Given the description of an element on the screen output the (x, y) to click on. 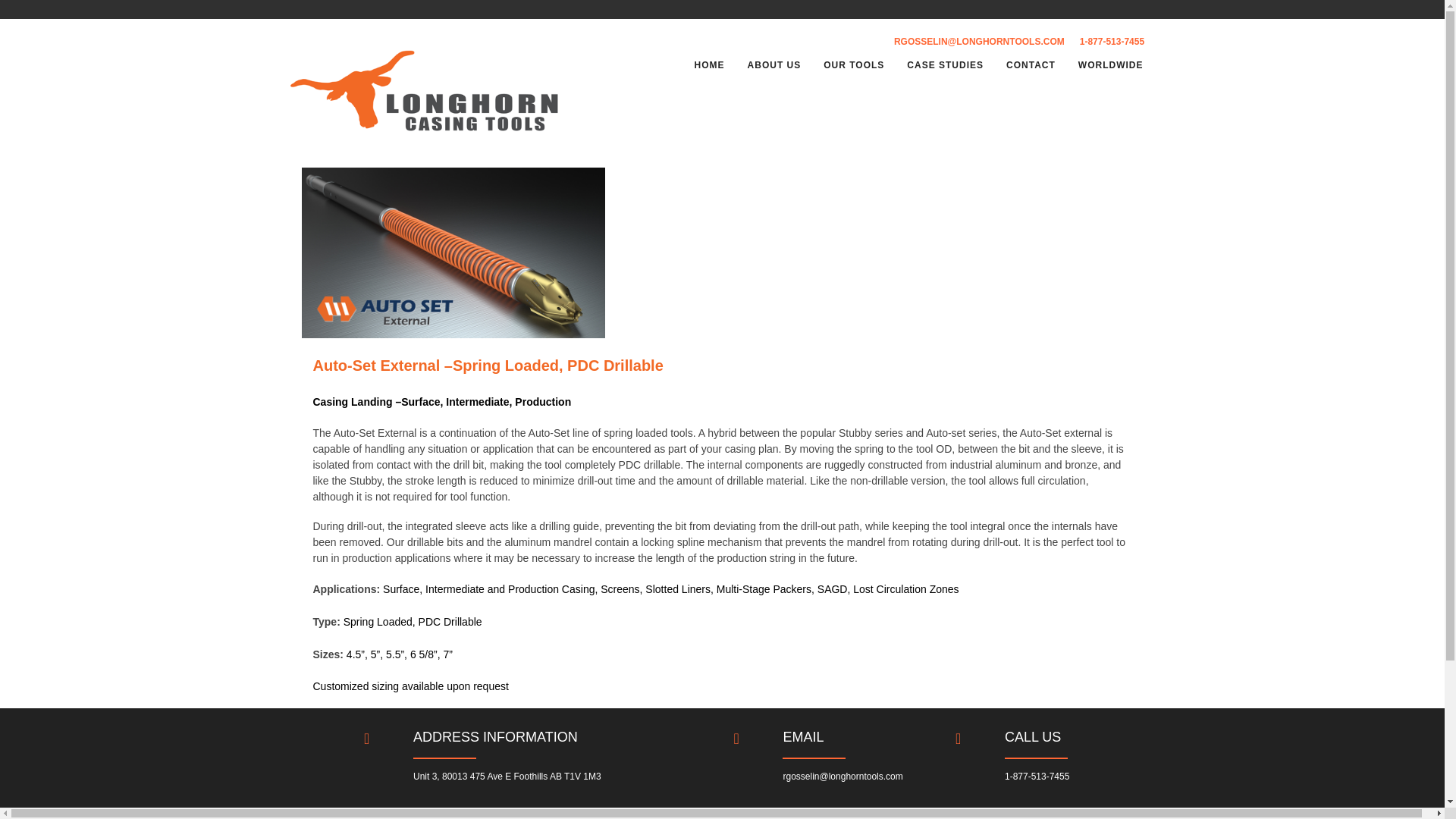
CONTACT (1030, 64)
WORLDWIDE (1110, 64)
HOME (709, 64)
ABOUT US (774, 64)
OUR TOOLS (853, 64)
CASE STUDIES (944, 64)
